Given the description of an element on the screen output the (x, y) to click on. 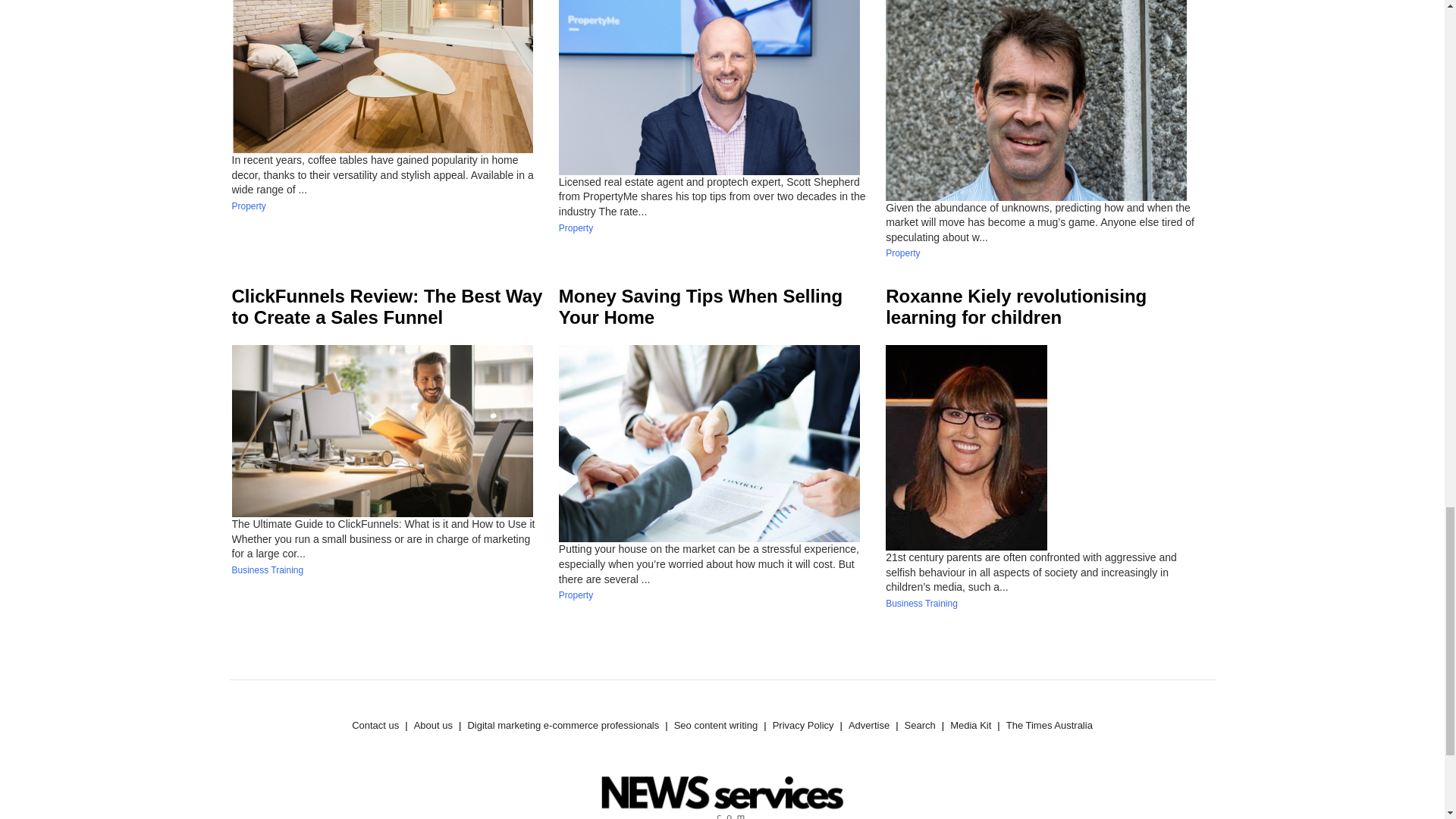
ClickFunnels Review: The Best Way to Create a Sales Funnel (387, 306)
Business Training (267, 570)
Money Saving Tips When Selling Your Home (701, 306)
Money Saving Tips When Selling Your Home (701, 306)
Property (575, 227)
Property (248, 205)
Property (902, 253)
Property (575, 594)
ClickFunnels Review: The Best Way to Create a Sales Funnel (387, 306)
Roxanne Kiely revolutionising learning for children (1016, 306)
